Given the description of an element on the screen output the (x, y) to click on. 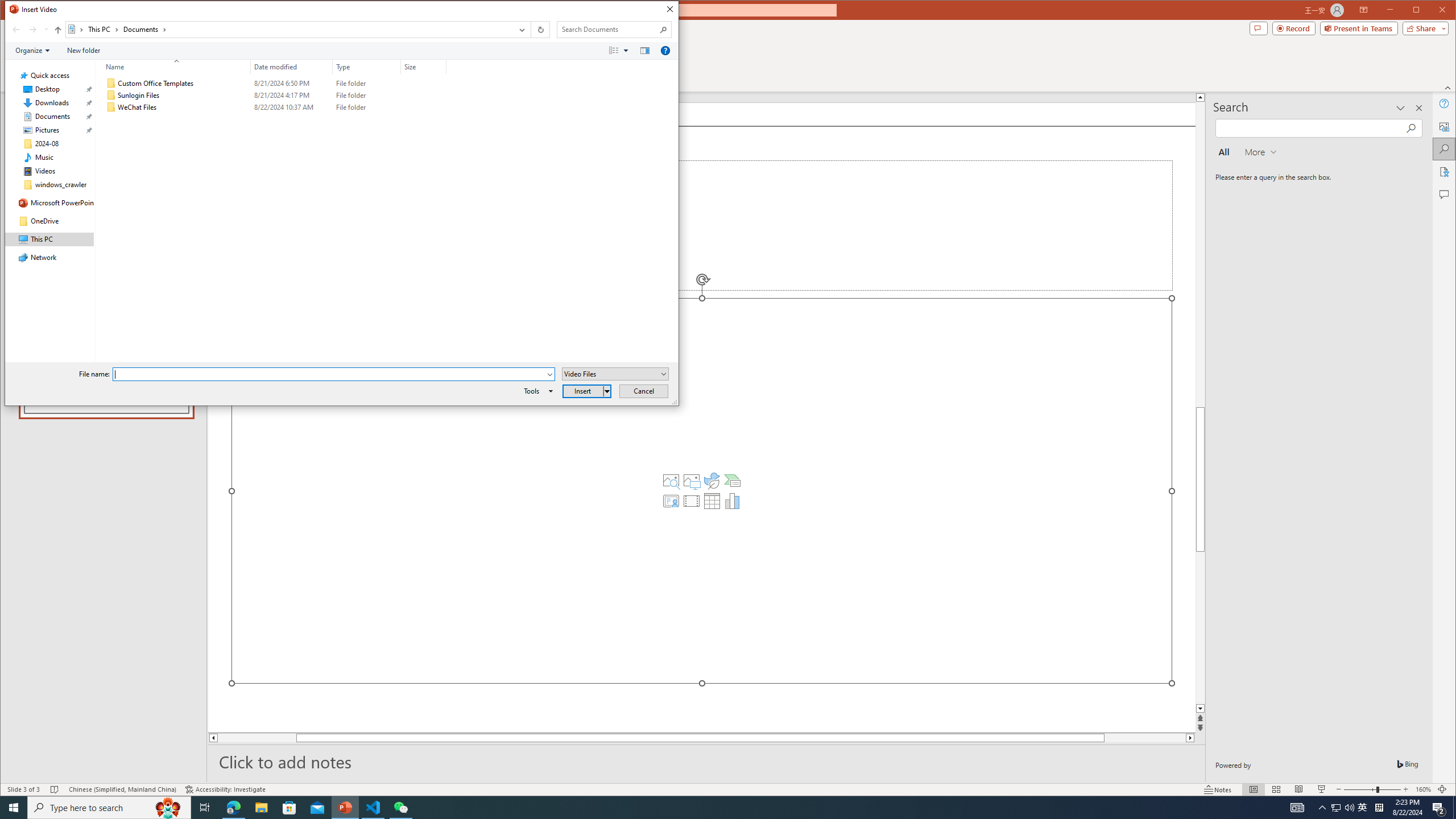
Size (423, 107)
Running applications (707, 807)
Address: Documents (288, 29)
Refresh "Documents" (F5) (538, 29)
Insert Video (691, 501)
Insert a SmartArt Graphic (732, 480)
File name: (333, 373)
